Given the description of an element on the screen output the (x, y) to click on. 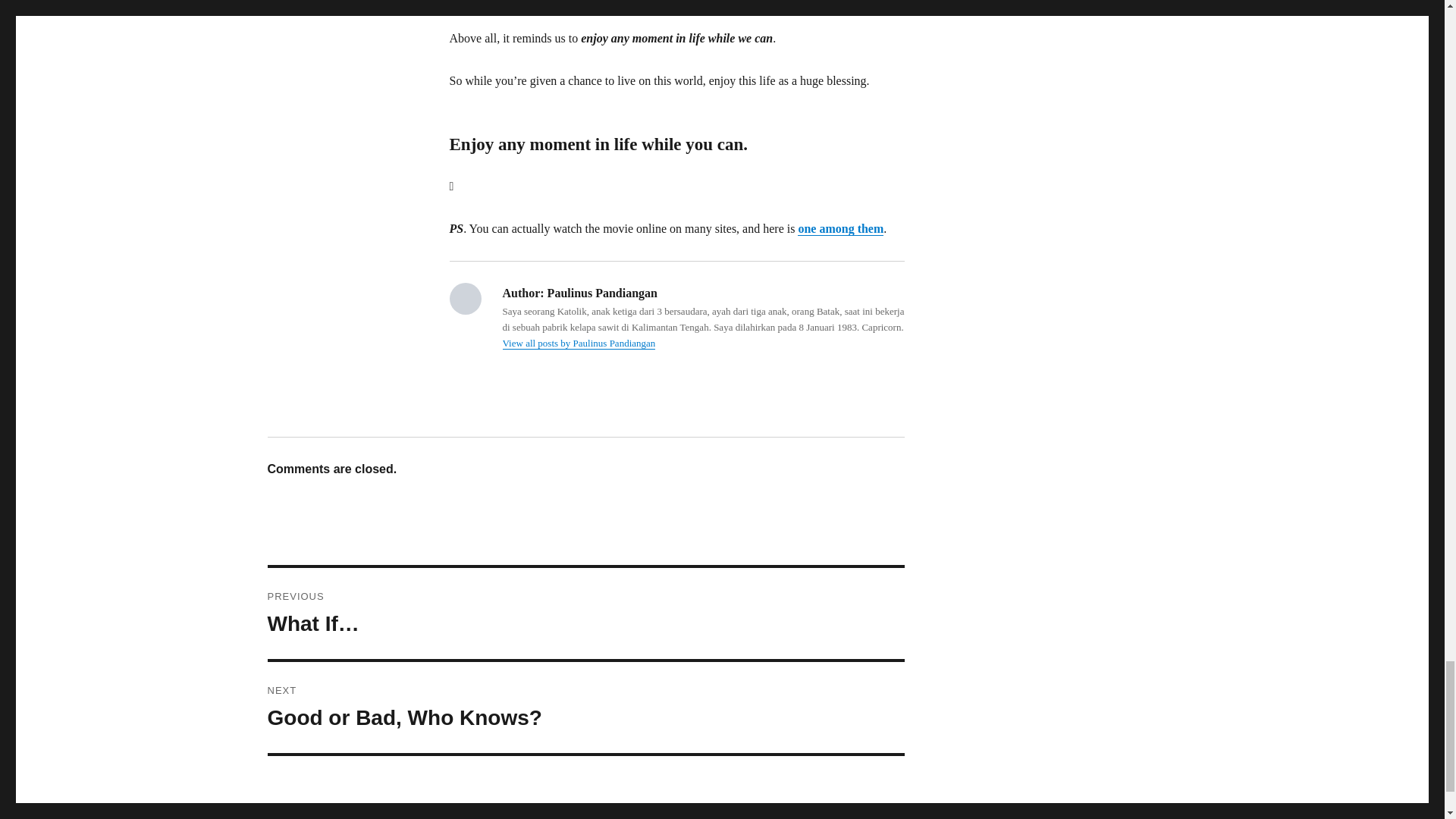
View all posts by Paulinus Pandiangan (578, 342)
one among them (585, 706)
